Given the description of an element on the screen output the (x, y) to click on. 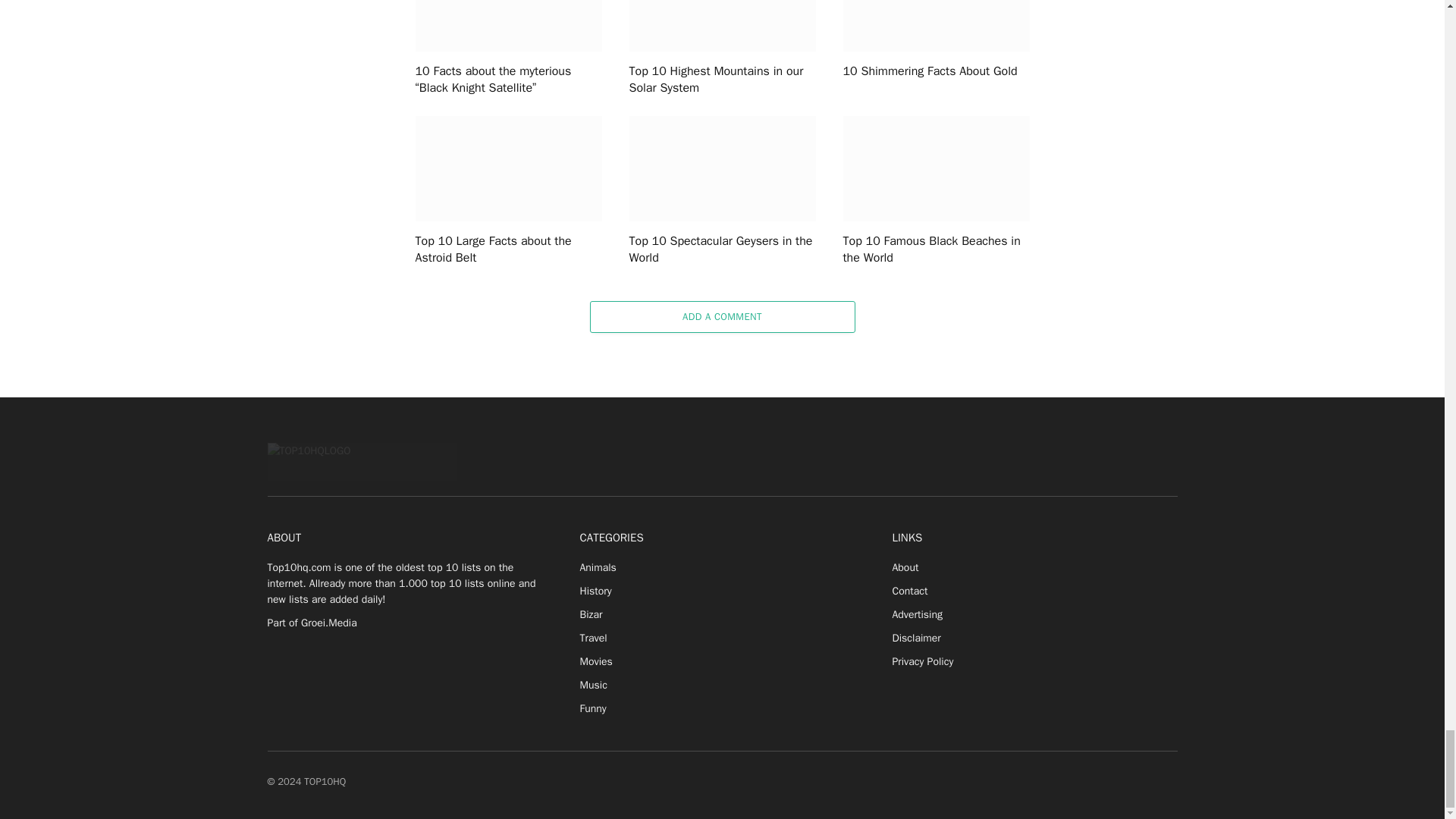
Top 10 Highest Mountains in our Solar System (721, 25)
